Given the description of an element on the screen output the (x, y) to click on. 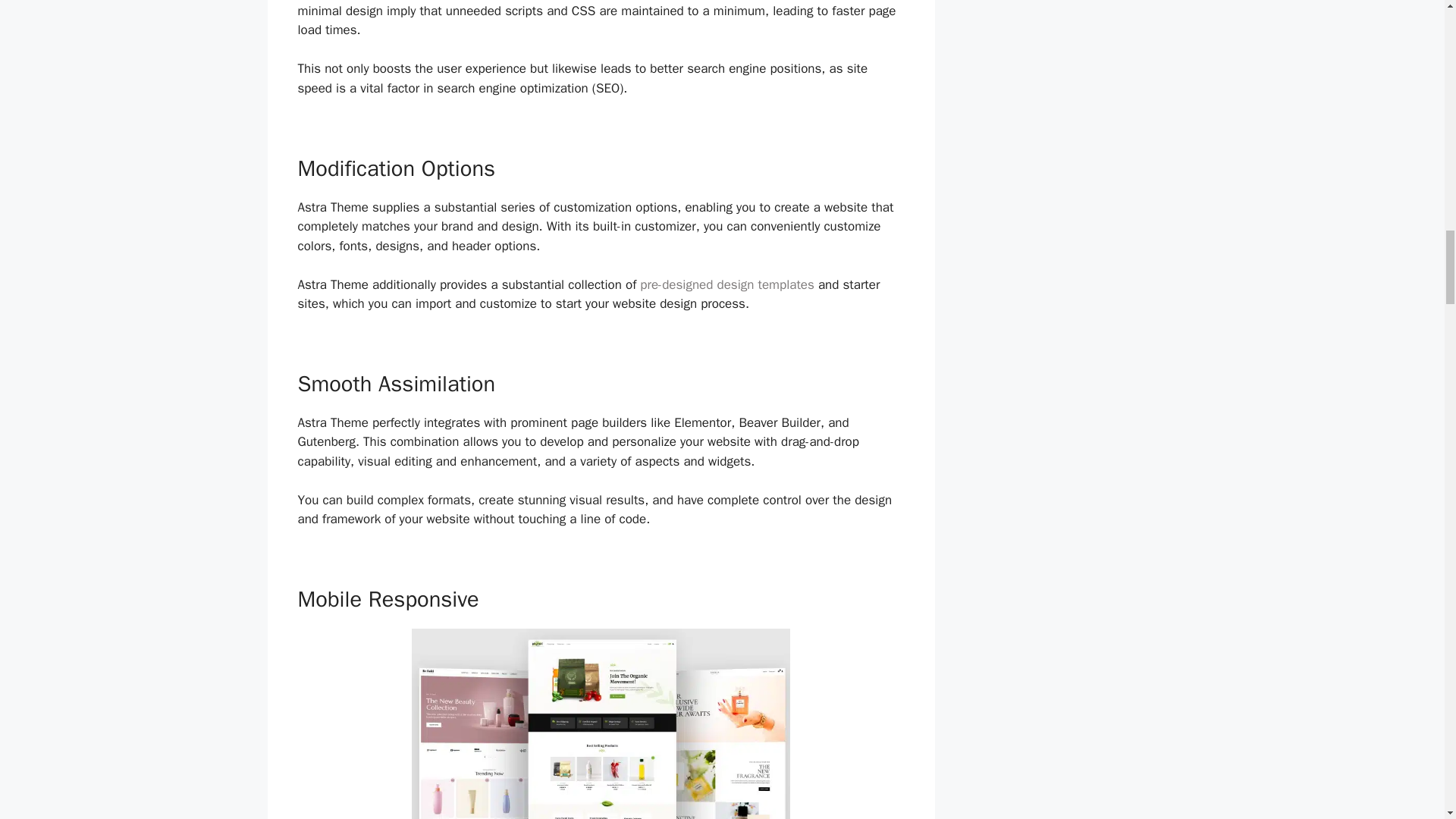
pre-designed design templates (726, 284)
